Given the description of an element on the screen output the (x, y) to click on. 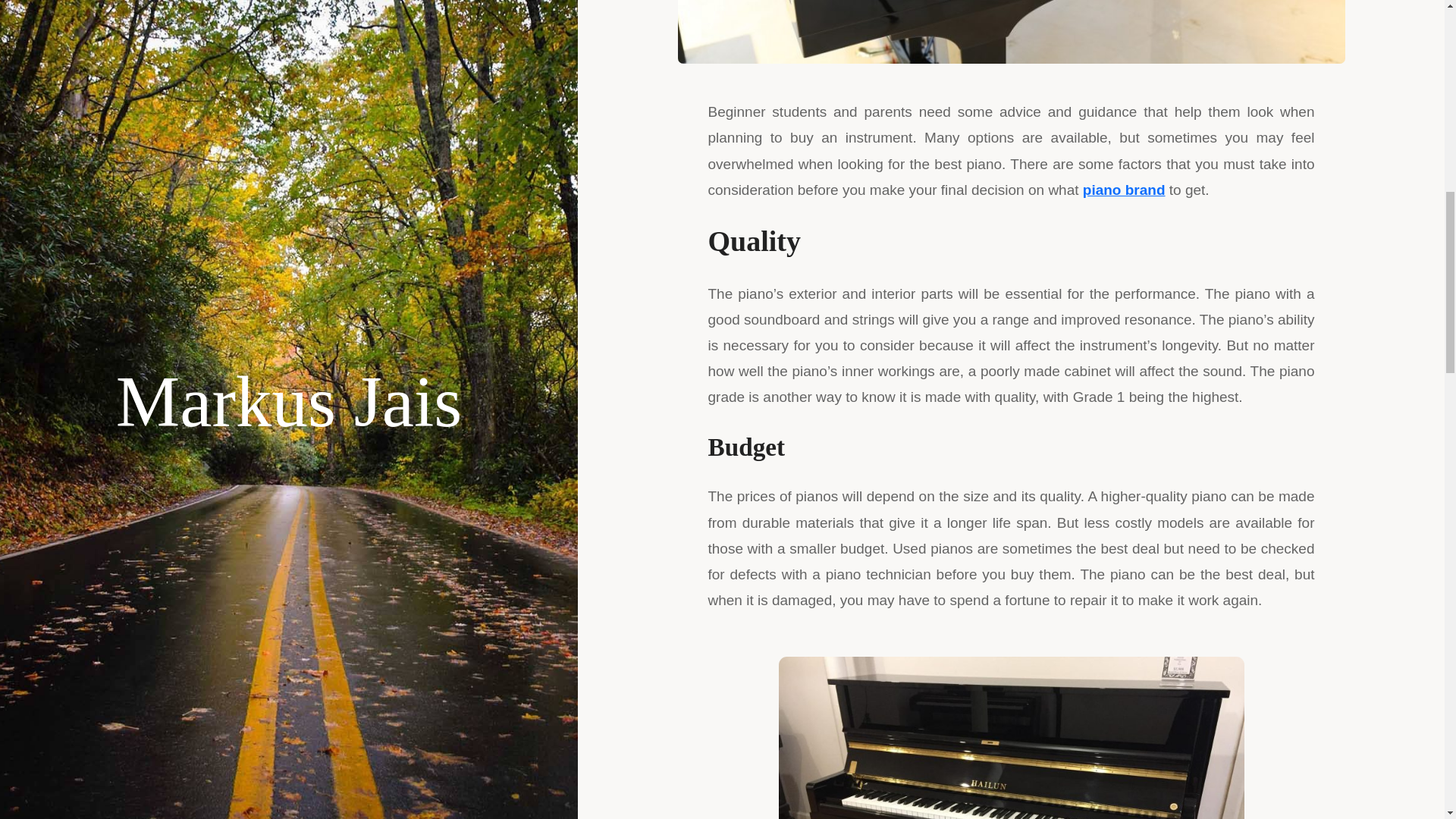
piano brand (1124, 189)
